Given the description of an element on the screen output the (x, y) to click on. 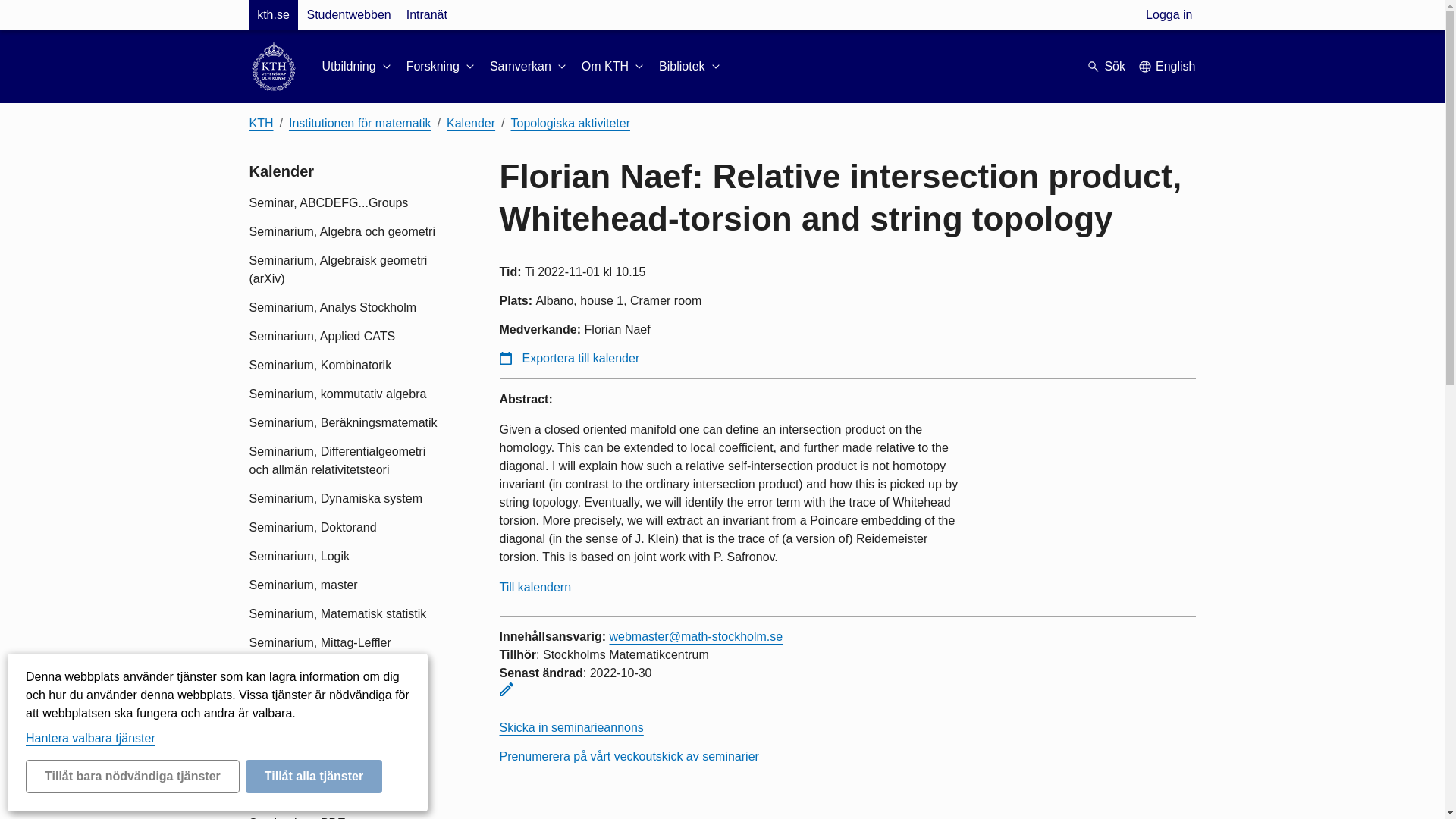
Studentwebben (347, 15)
Utbildning (357, 66)
Redigera denna sida (505, 689)
kth.se (272, 15)
Forskning (441, 66)
Om KTH (613, 66)
Logga in (1168, 15)
Bibliotek (690, 66)
Samverkan (529, 66)
